Given the description of an element on the screen output the (x, y) to click on. 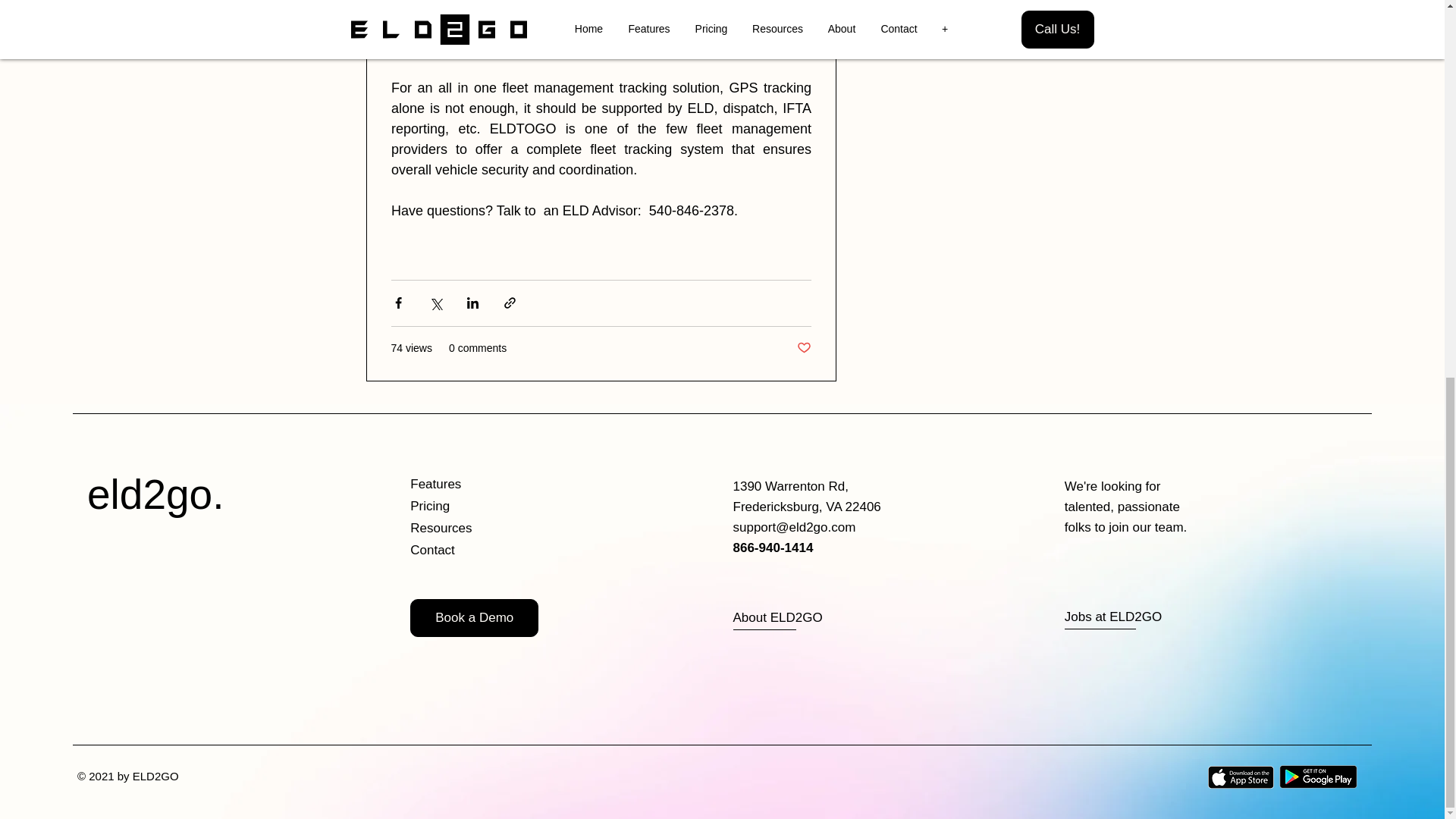
eld2go. (155, 493)
Book a Demo (474, 617)
About ELD2GO (788, 618)
Features (464, 484)
Contact (464, 550)
Resources (464, 528)
Post not marked as liked (803, 348)
Pricing (464, 506)
